Given the description of an element on the screen output the (x, y) to click on. 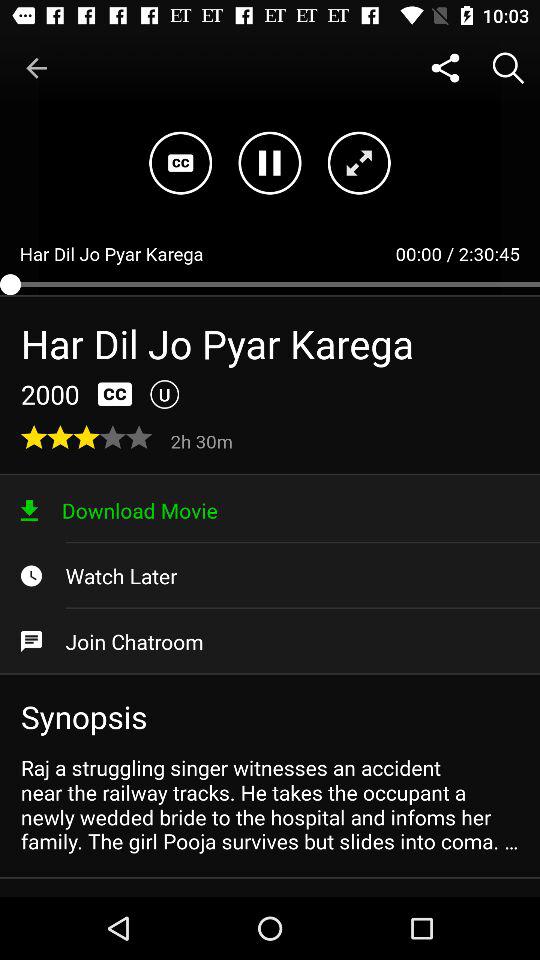
turn on the item above the synopsis item (270, 641)
